Given the description of an element on the screen output the (x, y) to click on. 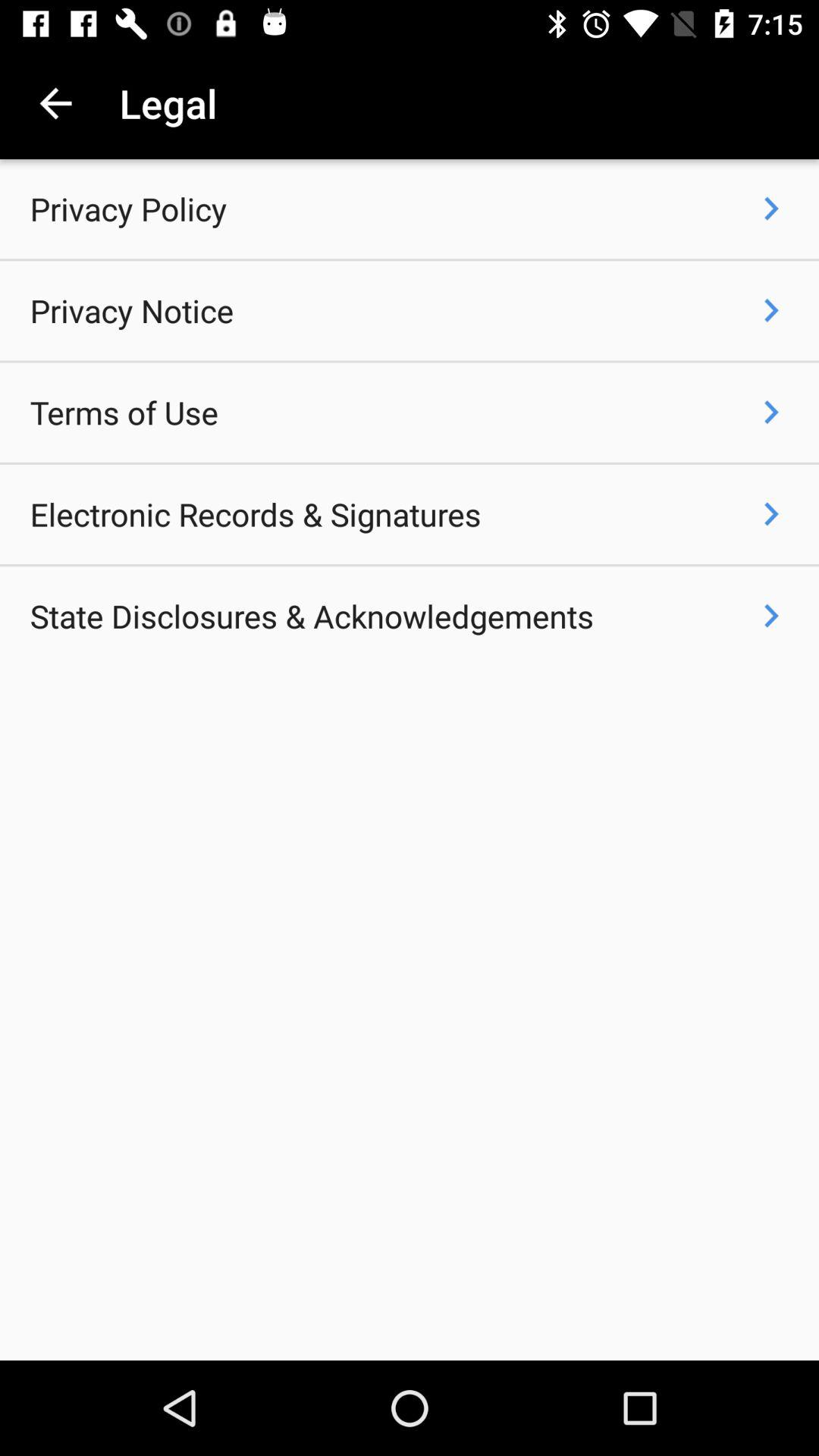
click the icon to the right of state disclosures & acknowledgements (771, 615)
